Given the description of an element on the screen output the (x, y) to click on. 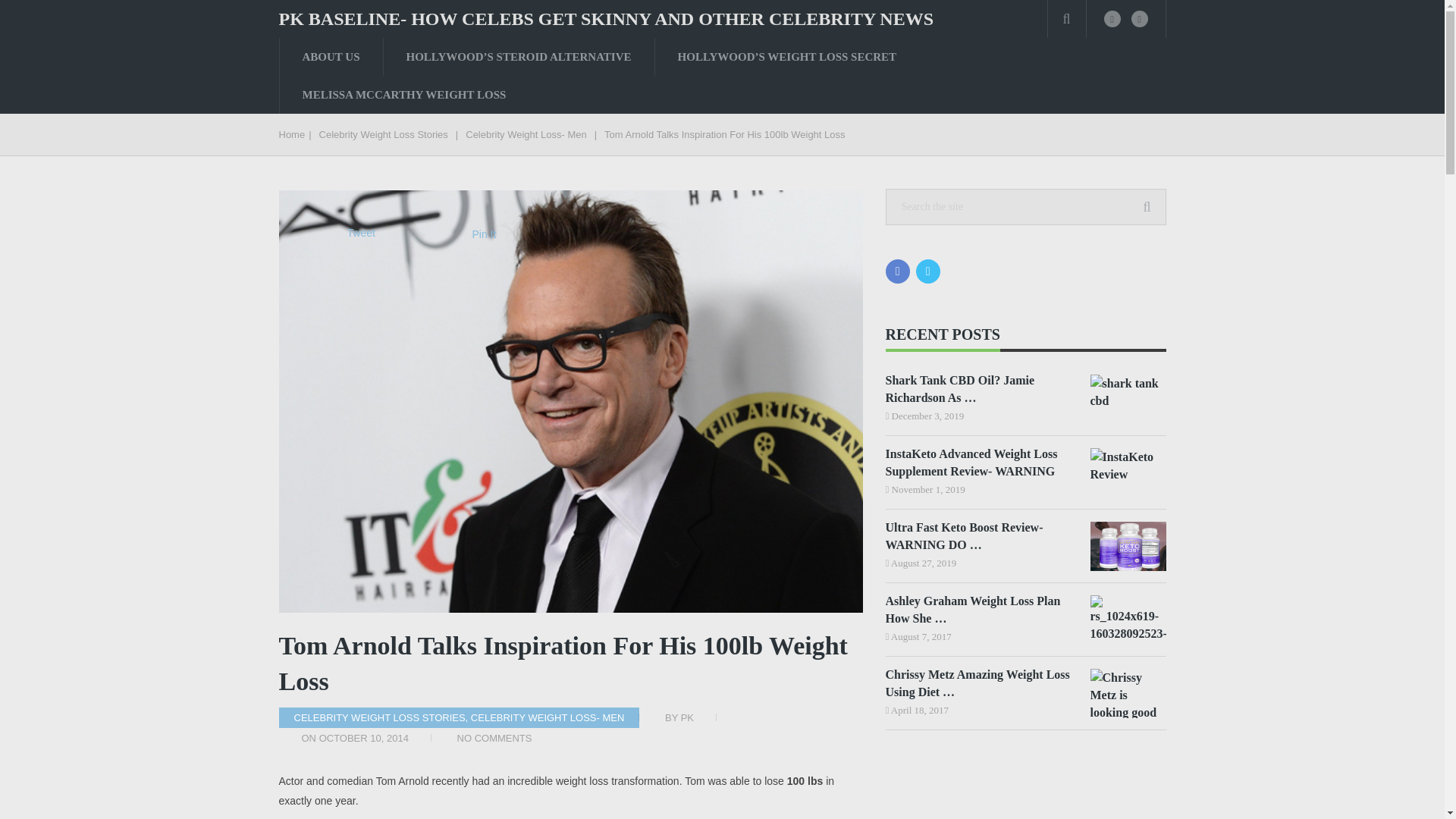
Celebrity Weight Loss- Men (525, 134)
PK BASELINE- HOW CELEBS GET SKINNY AND OTHER CELEBRITY NEWS (606, 18)
MELISSA MCCARTHY WEIGHT LOSS (403, 94)
Home (292, 134)
Celebrity Weight Loss Stories (383, 134)
Tweet (361, 232)
InstaKeto Advanced Weight Loss Supplement Review- WARNING (980, 462)
NO COMMENTS (494, 737)
Twitter (927, 271)
Facebook (897, 271)
ABOUT US (330, 56)
Pin It (483, 234)
